Given the description of an element on the screen output the (x, y) to click on. 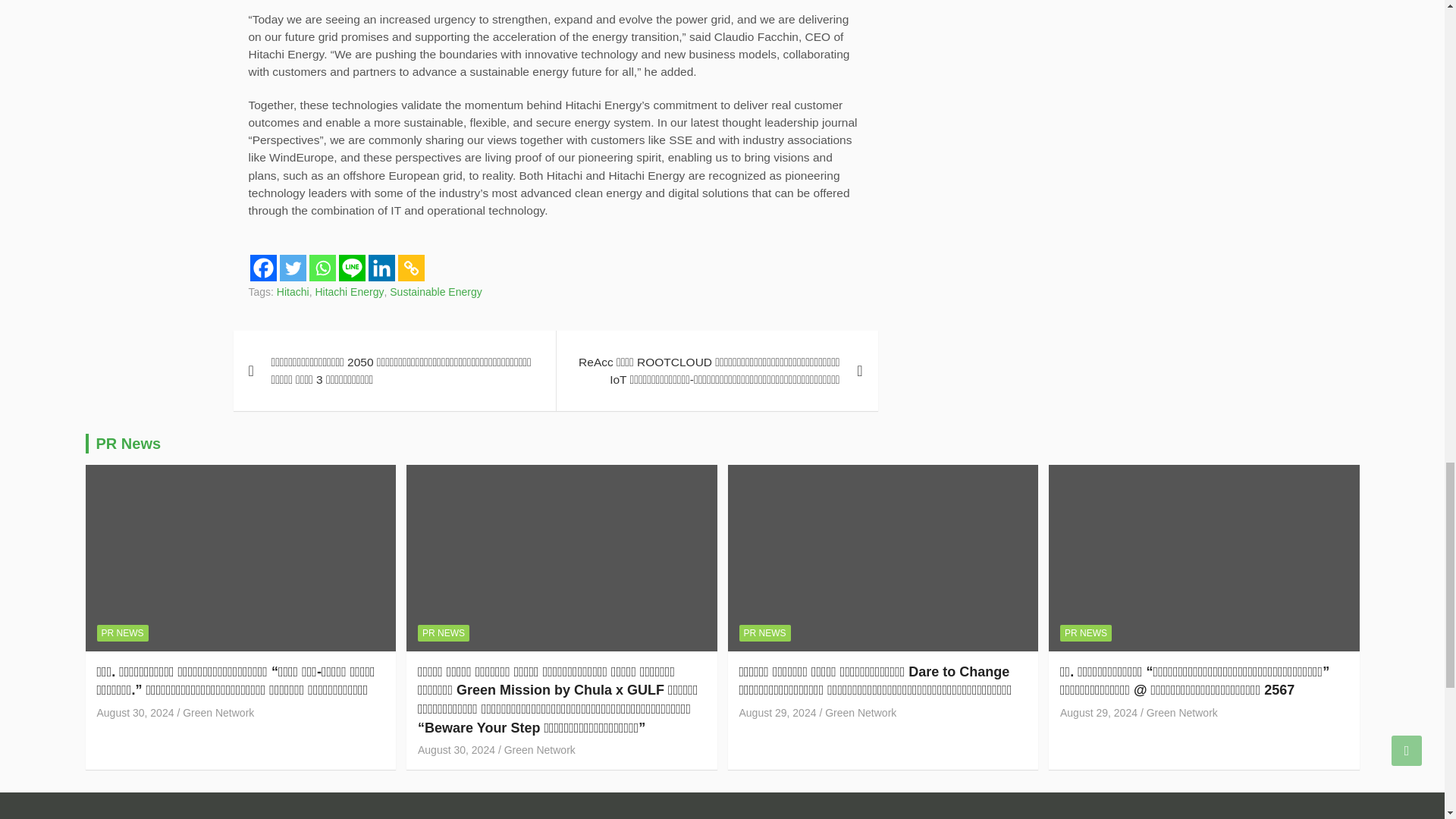
Facebook (263, 267)
Linkedin (381, 267)
Copy Link (410, 267)
Line (351, 267)
Whatsapp (322, 267)
Twitter (292, 267)
